Given the description of an element on the screen output the (x, y) to click on. 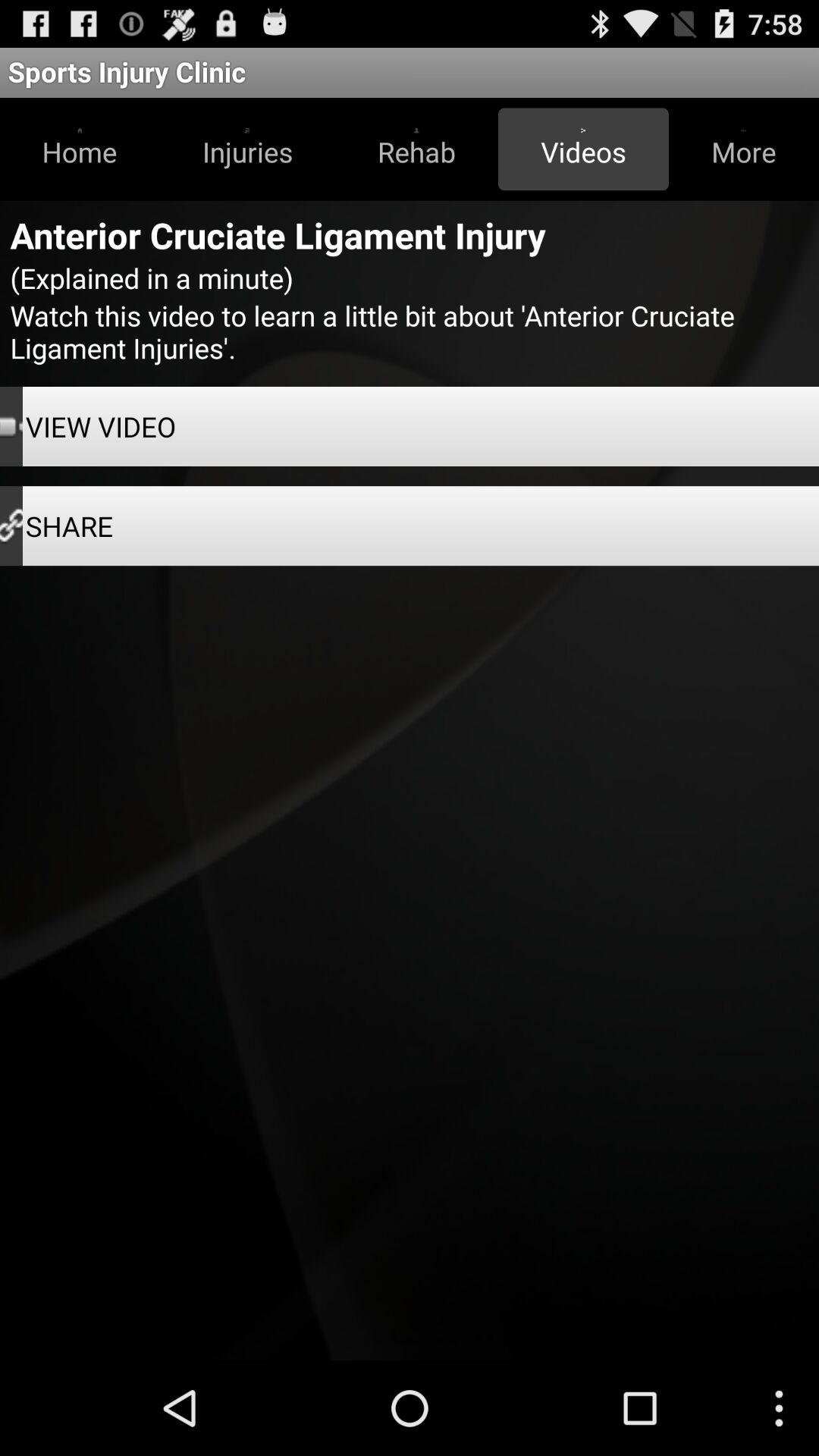
launch the app above the anterior cruciate ligament (583, 149)
